Given the description of an element on the screen output the (x, y) to click on. 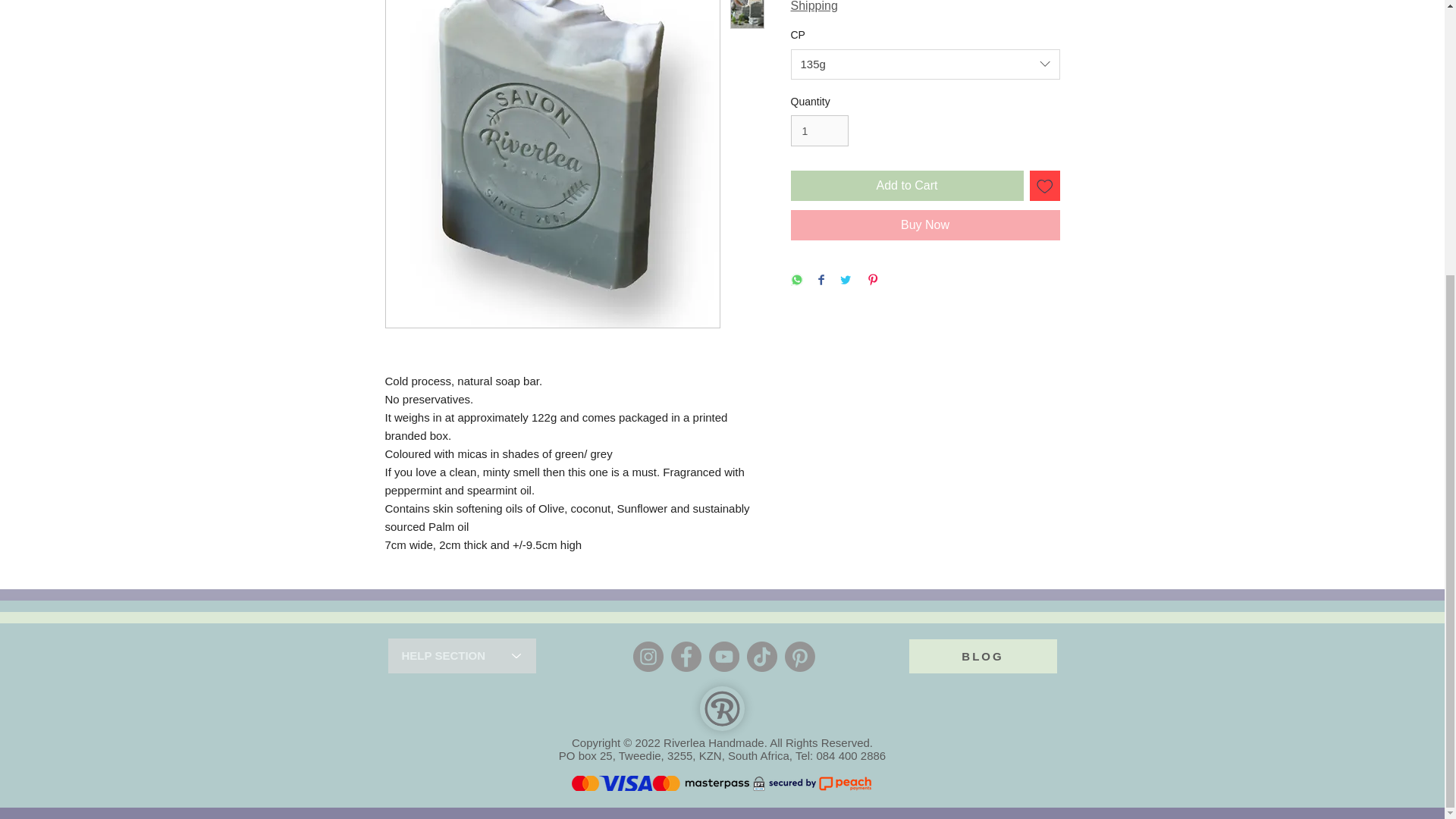
Add to Cart (906, 185)
1 (818, 130)
Shipping (813, 6)
135g (924, 64)
Buy Now (924, 224)
